Given the description of an element on the screen output the (x, y) to click on. 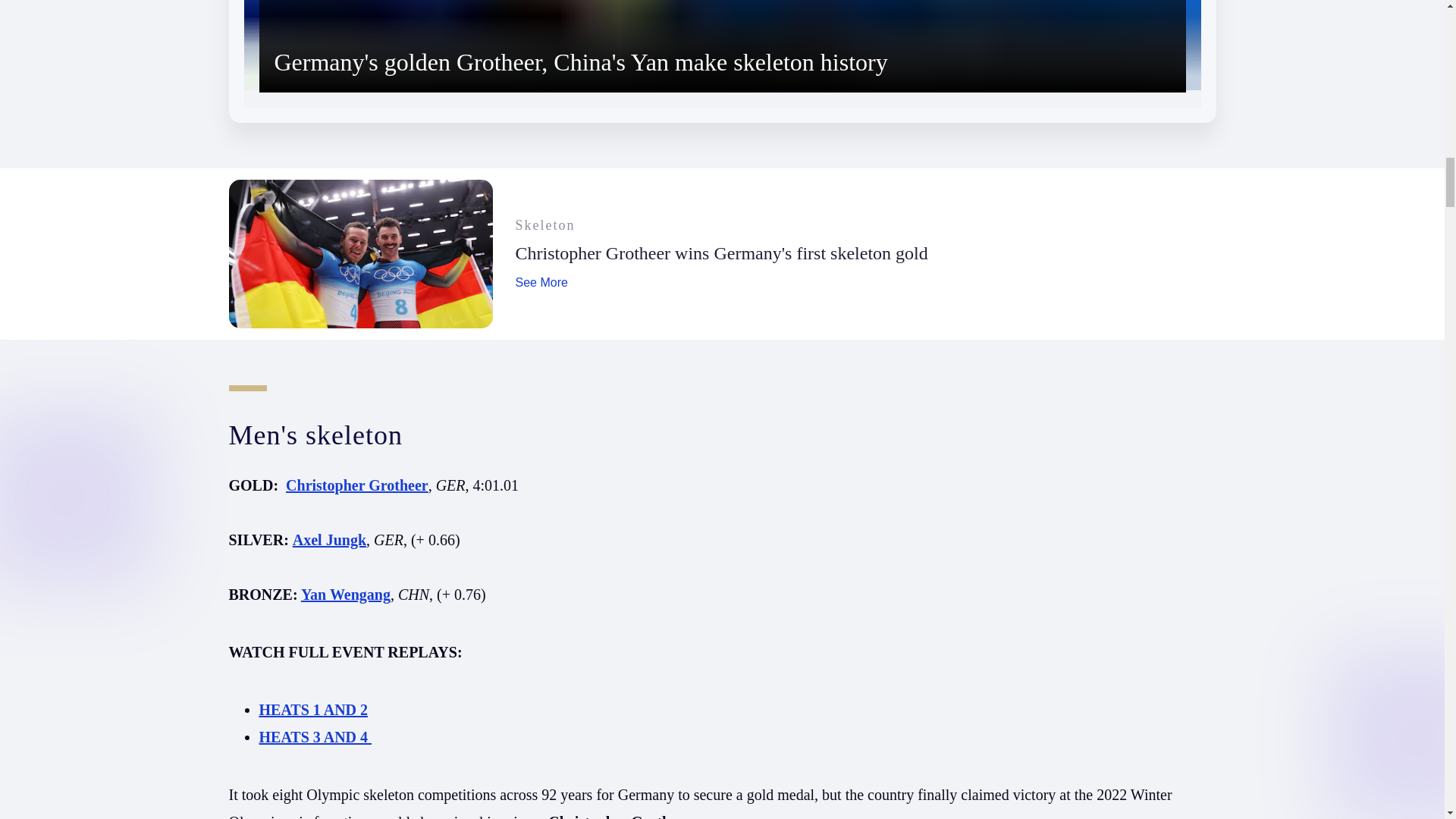
HEATS 1 AND 2 (313, 709)
4m 37s (721, 61)
Germany's golden Grotheer, China's Yan make skeleton history (581, 62)
Christopher Grotheer (356, 484)
Yan Wengang (345, 594)
Axel Jungk (329, 539)
Christopher Grotheer wins Germany's first skeleton gold (721, 252)
